Given the description of an element on the screen output the (x, y) to click on. 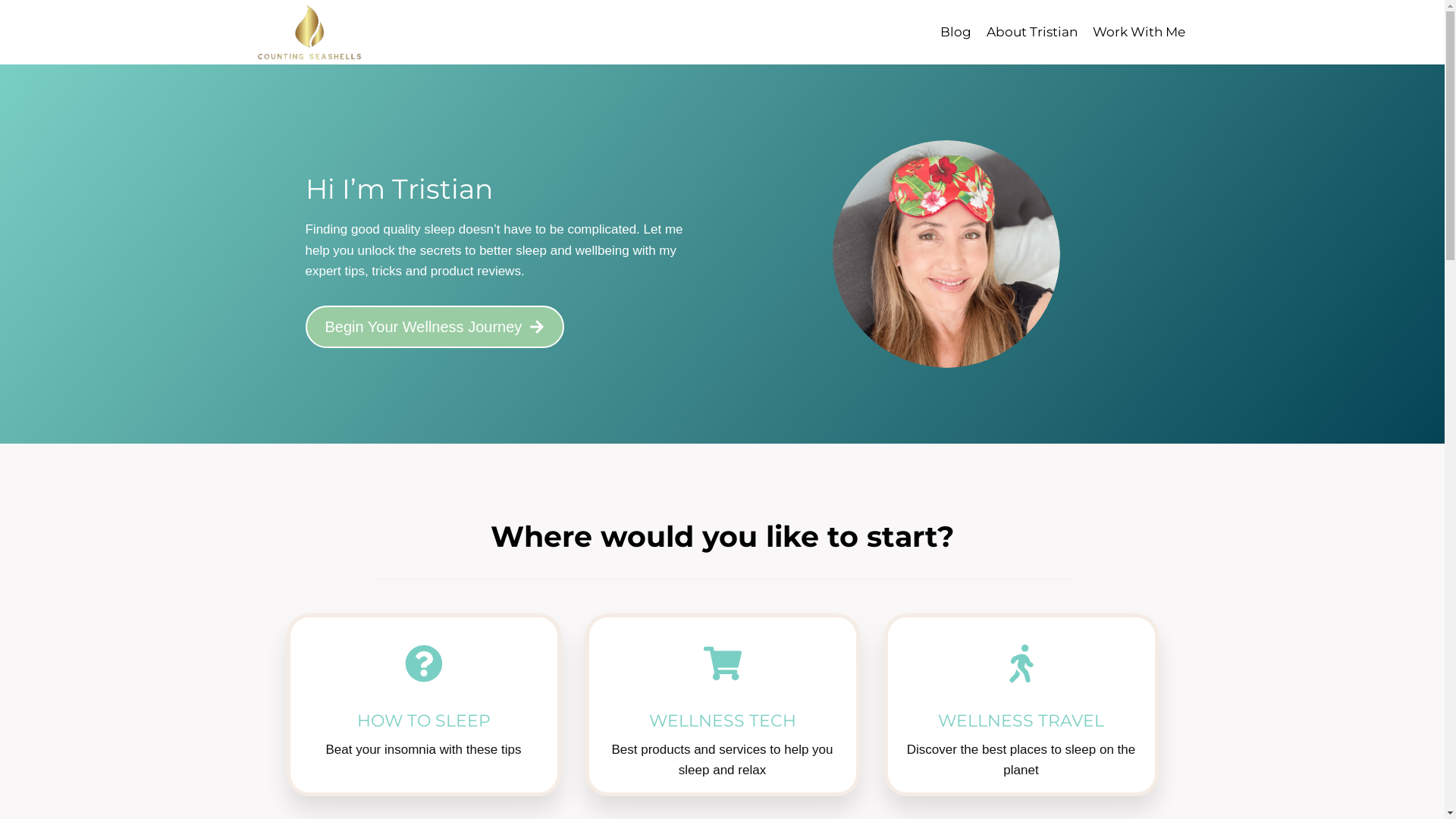
About Tristian Element type: text (1032, 32)
Blog Element type: text (954, 32)
HOW TO SLEEP
Beat your insomnia with these tips Element type: text (423, 704)
Begin Your Wellness Journey Element type: text (434, 326)
Work With Me Element type: text (1138, 32)
